Given the description of an element on the screen output the (x, y) to click on. 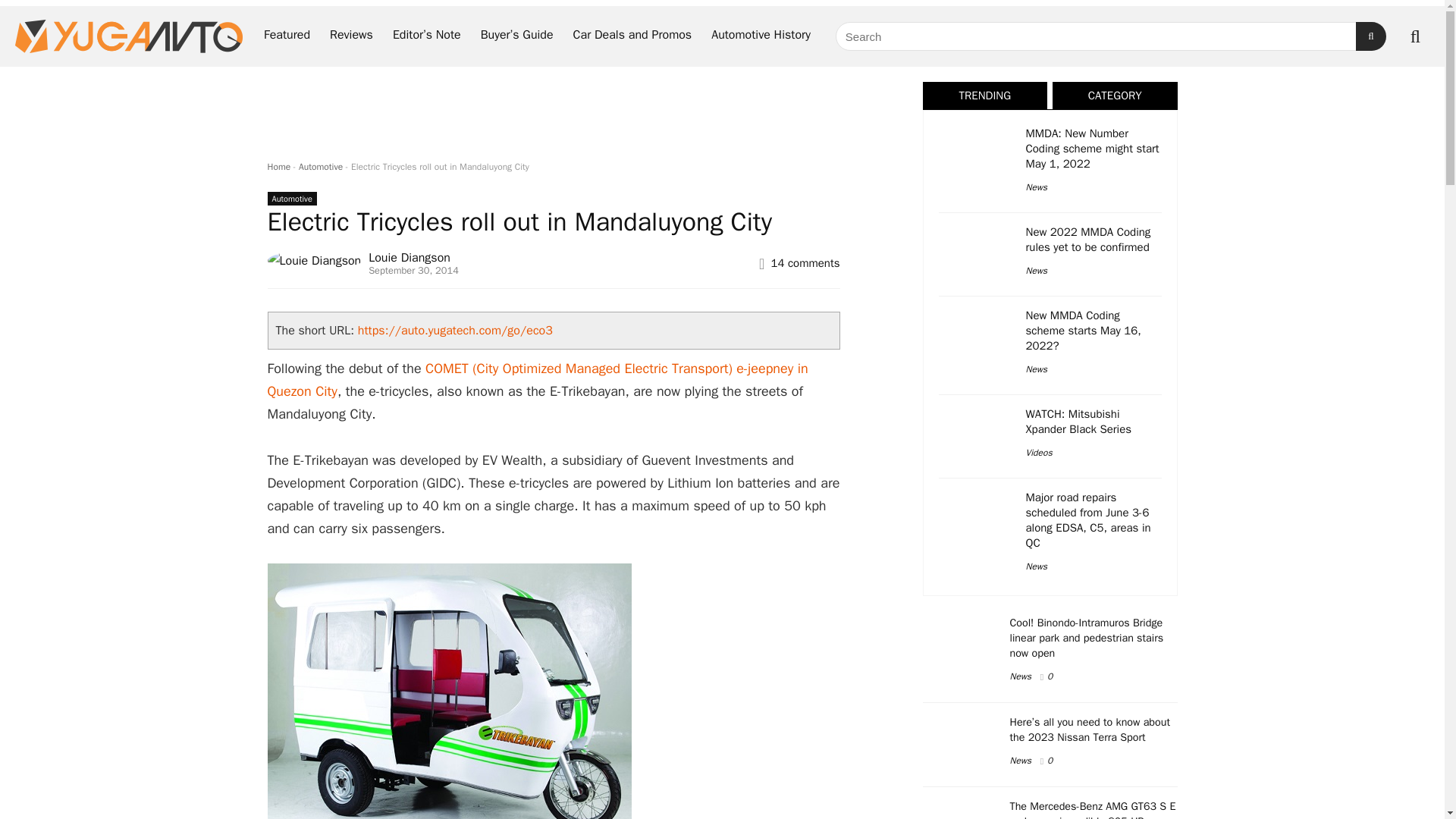
Reviews (351, 36)
14 comments (805, 263)
Car Deals and Promos (632, 36)
Automotive (290, 198)
Louie Diangson (408, 257)
Automotive (320, 166)
Automotive History (761, 36)
Home (277, 166)
Electric Tricycles roll out in Mandaluyong City 1 (448, 691)
View all posts in Automotive (290, 198)
Featured (286, 36)
